Given the description of an element on the screen output the (x, y) to click on. 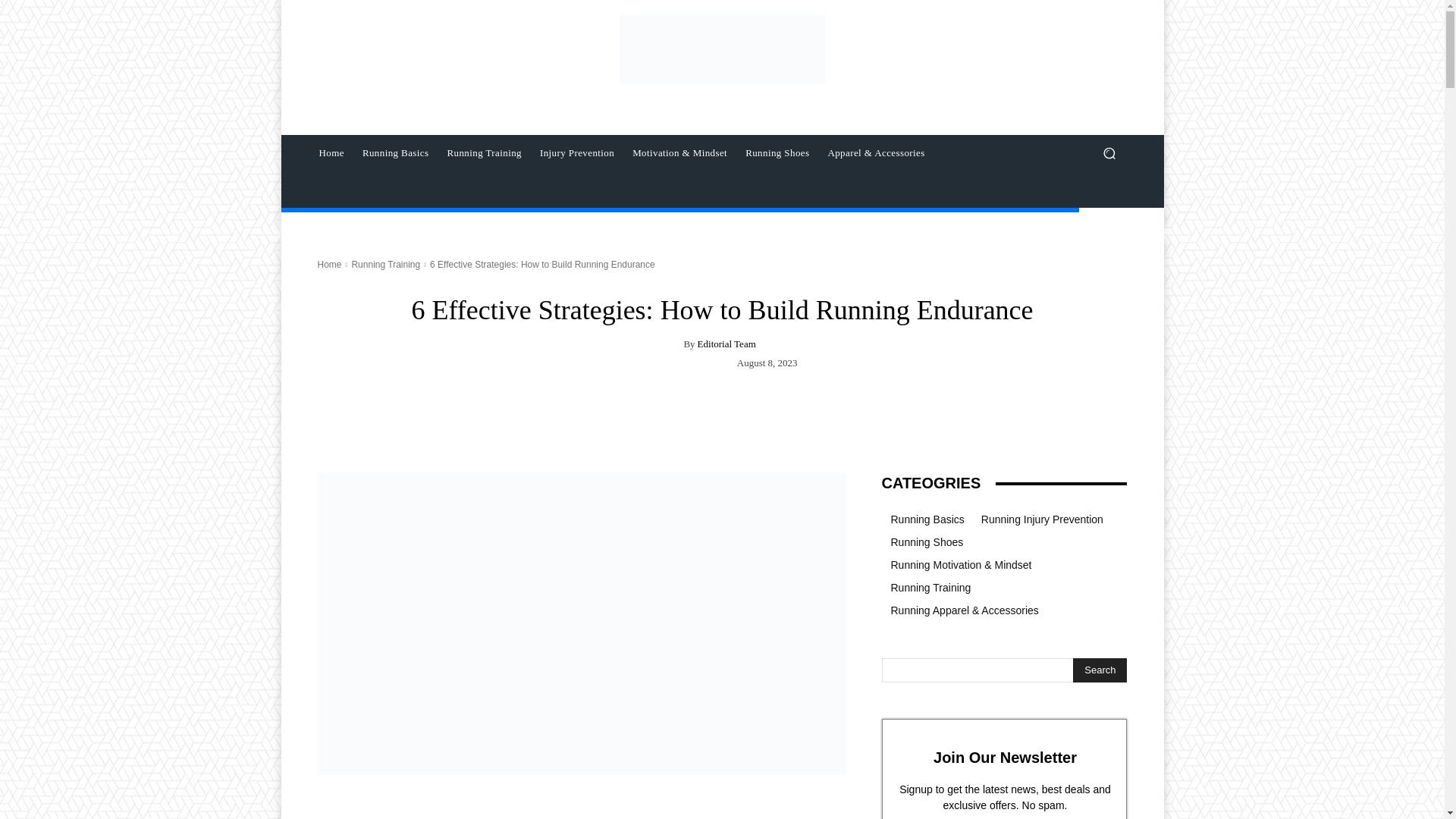
Running Training (484, 153)
View all posts in Running Training (385, 264)
Running Training (385, 264)
Running Basics (395, 153)
Injury Prevention (577, 153)
Home (330, 153)
Editorial Team (726, 343)
Home (328, 264)
Running Shoes (777, 153)
